Given the description of an element on the screen output the (x, y) to click on. 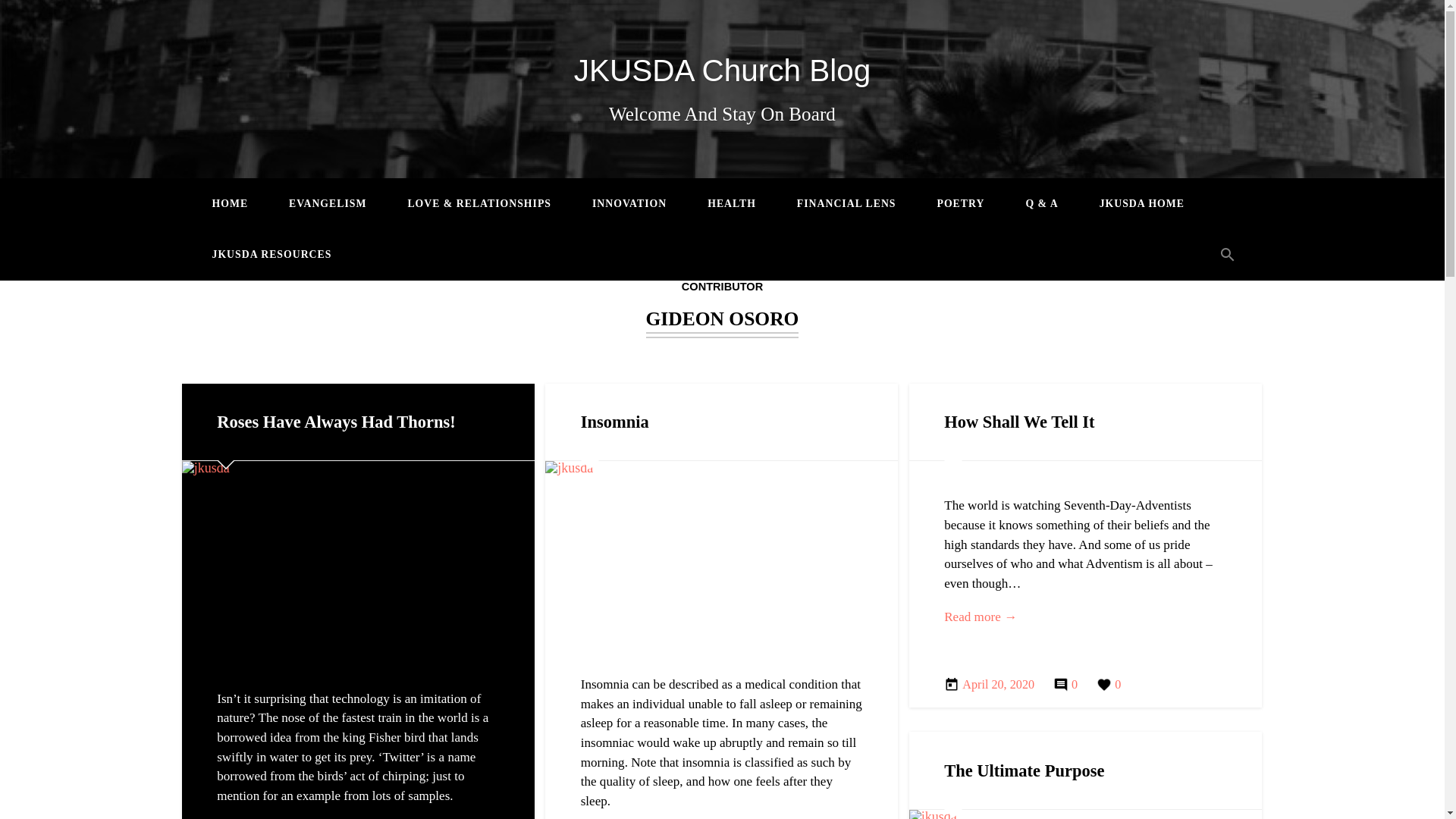
POETRY (959, 204)
Roses Have Always Had Thorns! (335, 421)
INNOVATION (629, 204)
JKUSDA RESOURCES (271, 254)
How Shall We Tell It (1018, 421)
FINANCIAL LENS (846, 204)
EVANGELISM (327, 204)
April 20, 2020 (988, 684)
JKUSDA Church Blog (721, 70)
Insomnia (614, 421)
